Given the description of an element on the screen output the (x, y) to click on. 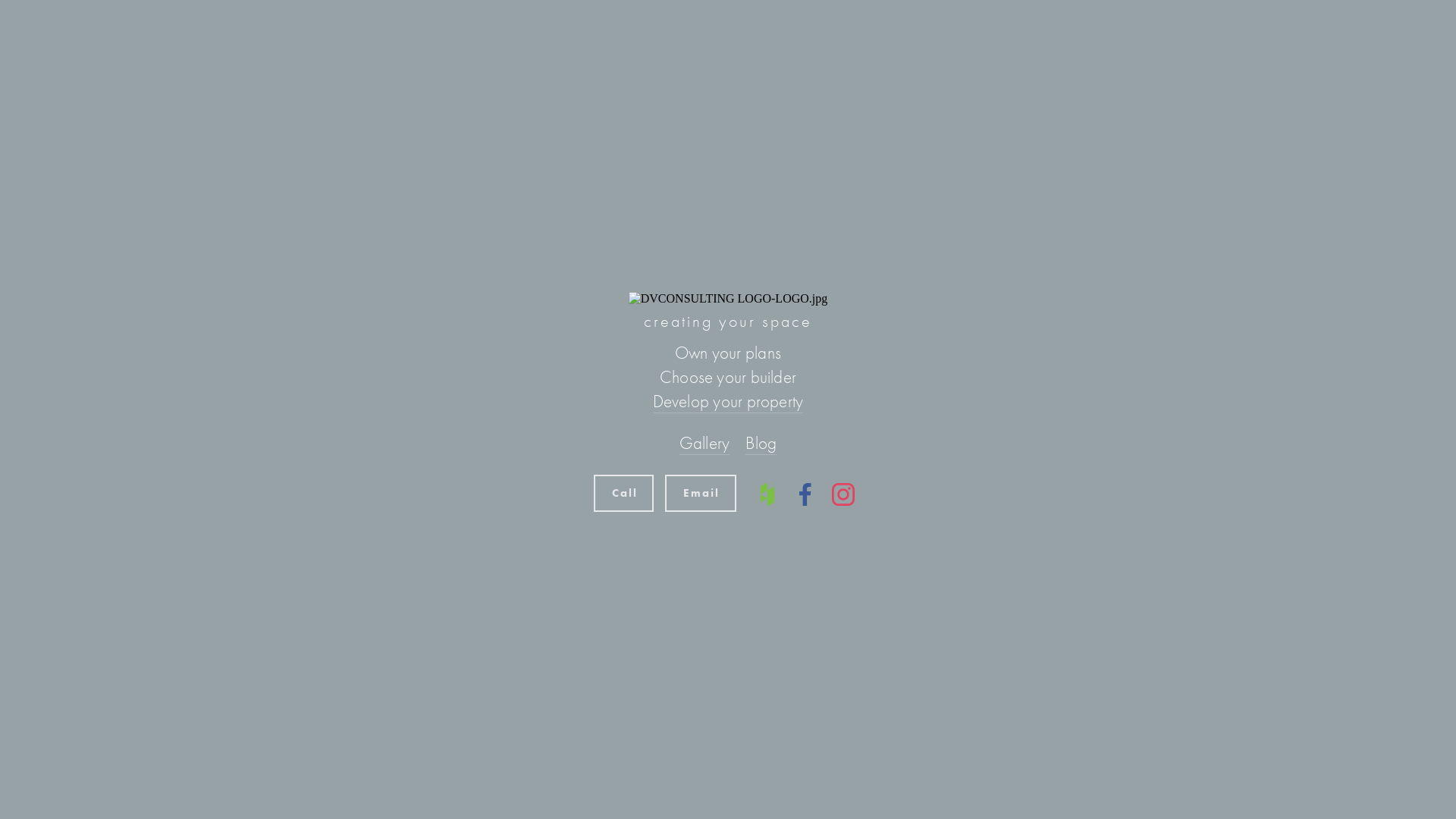
Gallery Element type: text (704, 443)
Call Element type: text (623, 492)
Develop your property Element type: text (727, 401)
Blog Element type: text (760, 443)
Email Element type: text (700, 492)
